Given the description of an element on the screen output the (x, y) to click on. 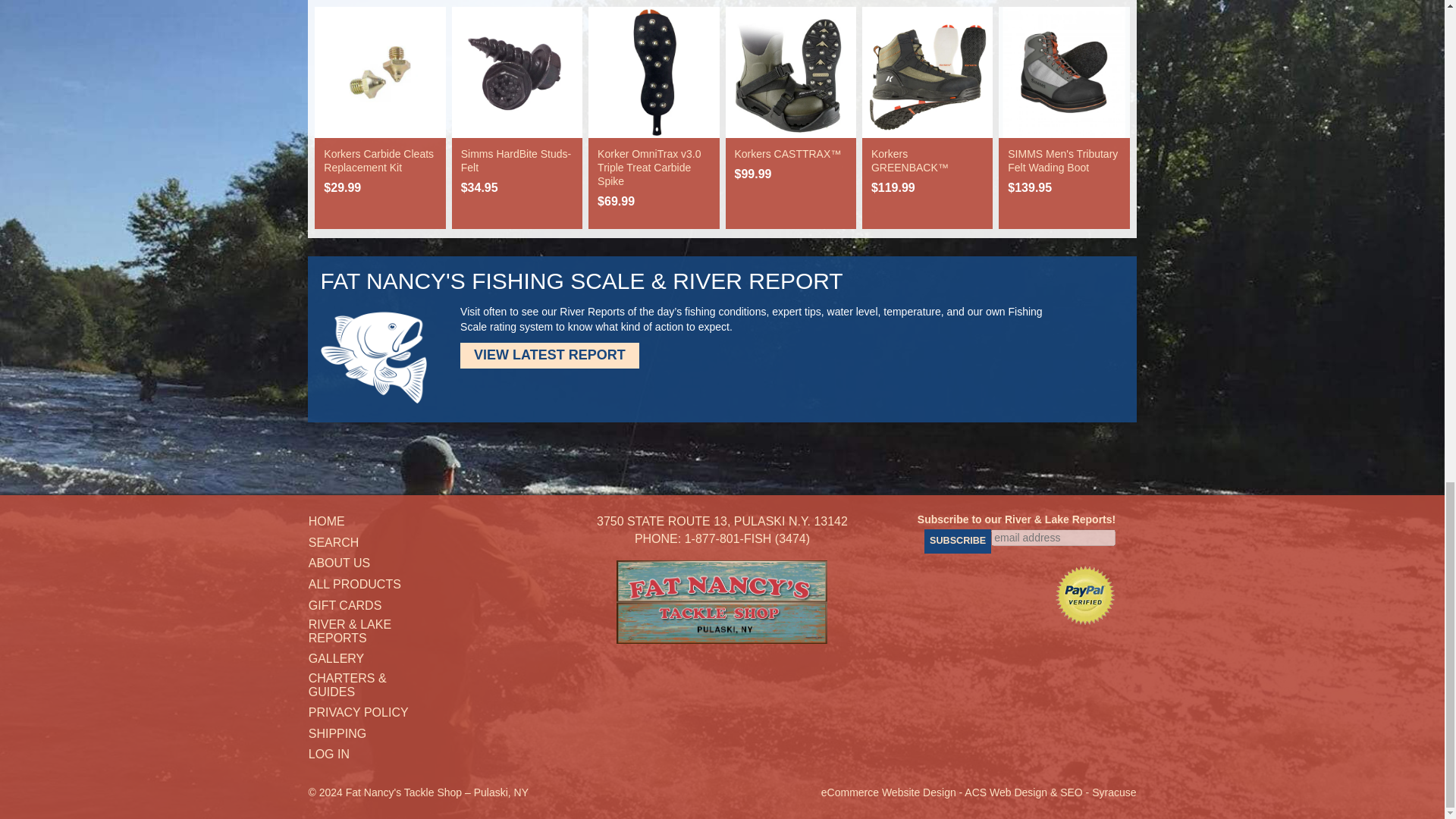
Korkers Carbide Cleats Replacement Kit (378, 160)
Korkers Carbide Cleats Replacement Kit (379, 71)
Subscribe (957, 541)
